Given the description of an element on the screen output the (x, y) to click on. 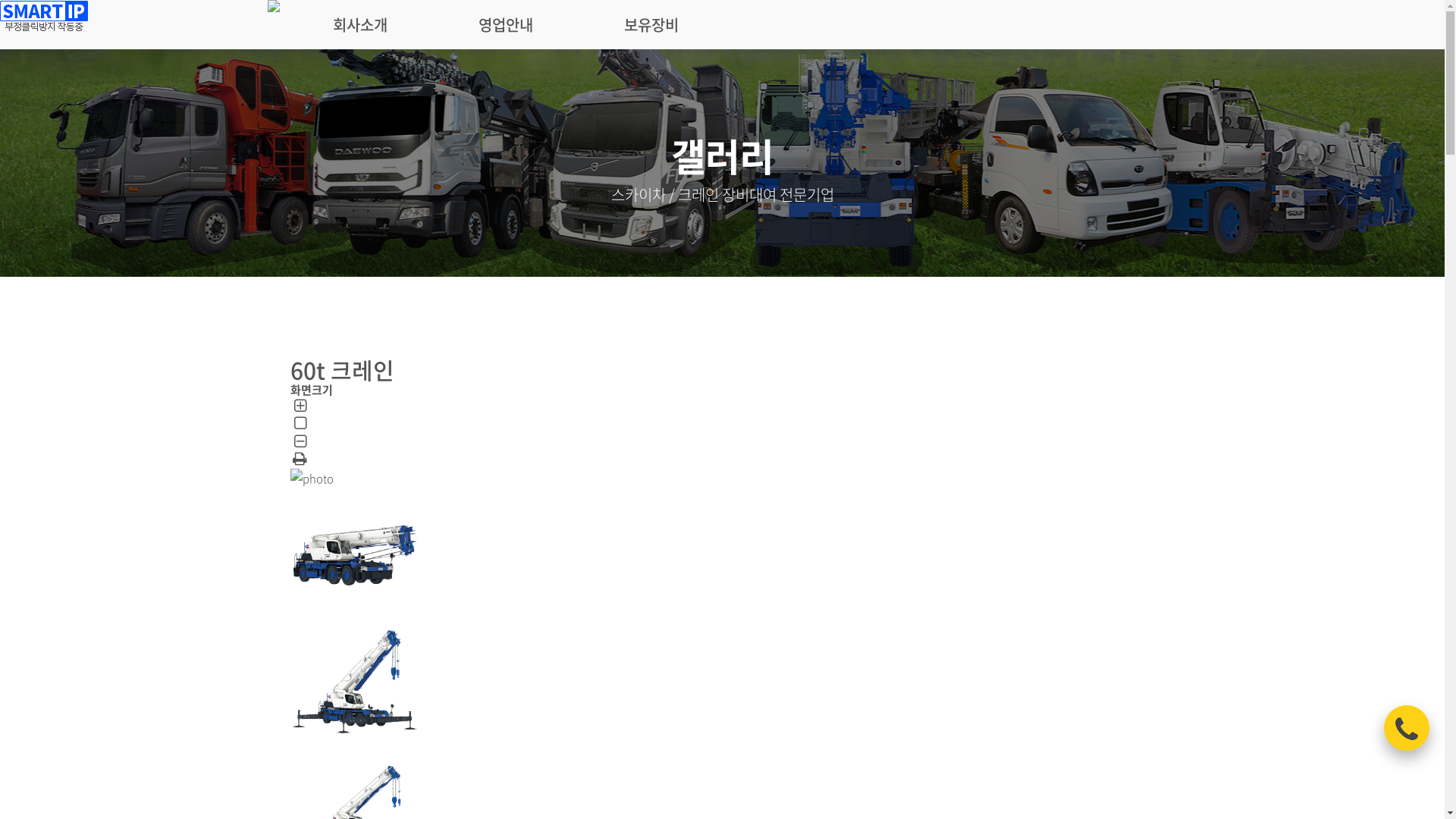
100% Element type: hover (299, 424)
